Given the description of an element on the screen output the (x, y) to click on. 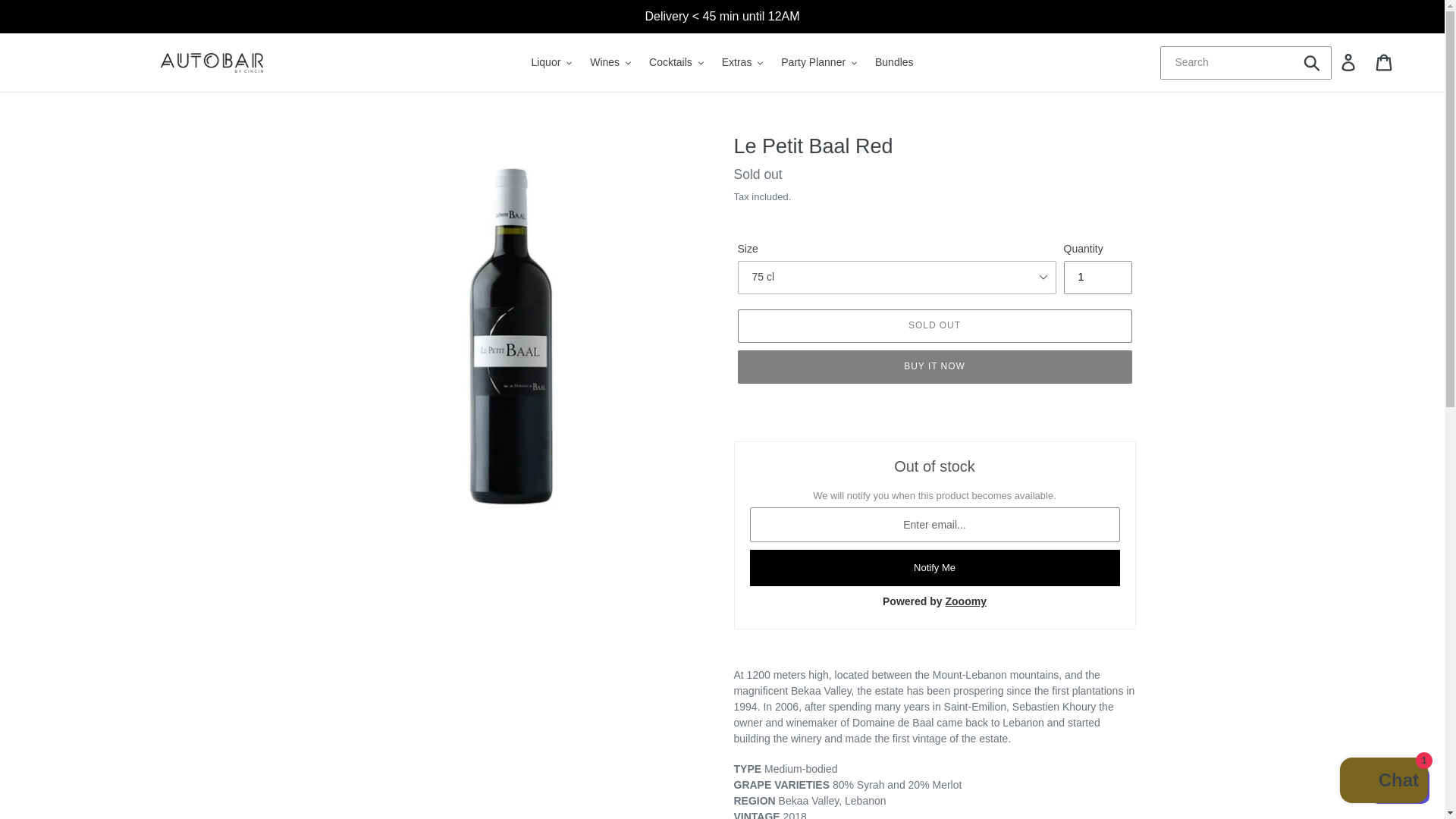
1 (1096, 277)
Shopify online store chat (1383, 781)
LoyaltyLion beacon (1399, 785)
